Given the description of an element on the screen output the (x, y) to click on. 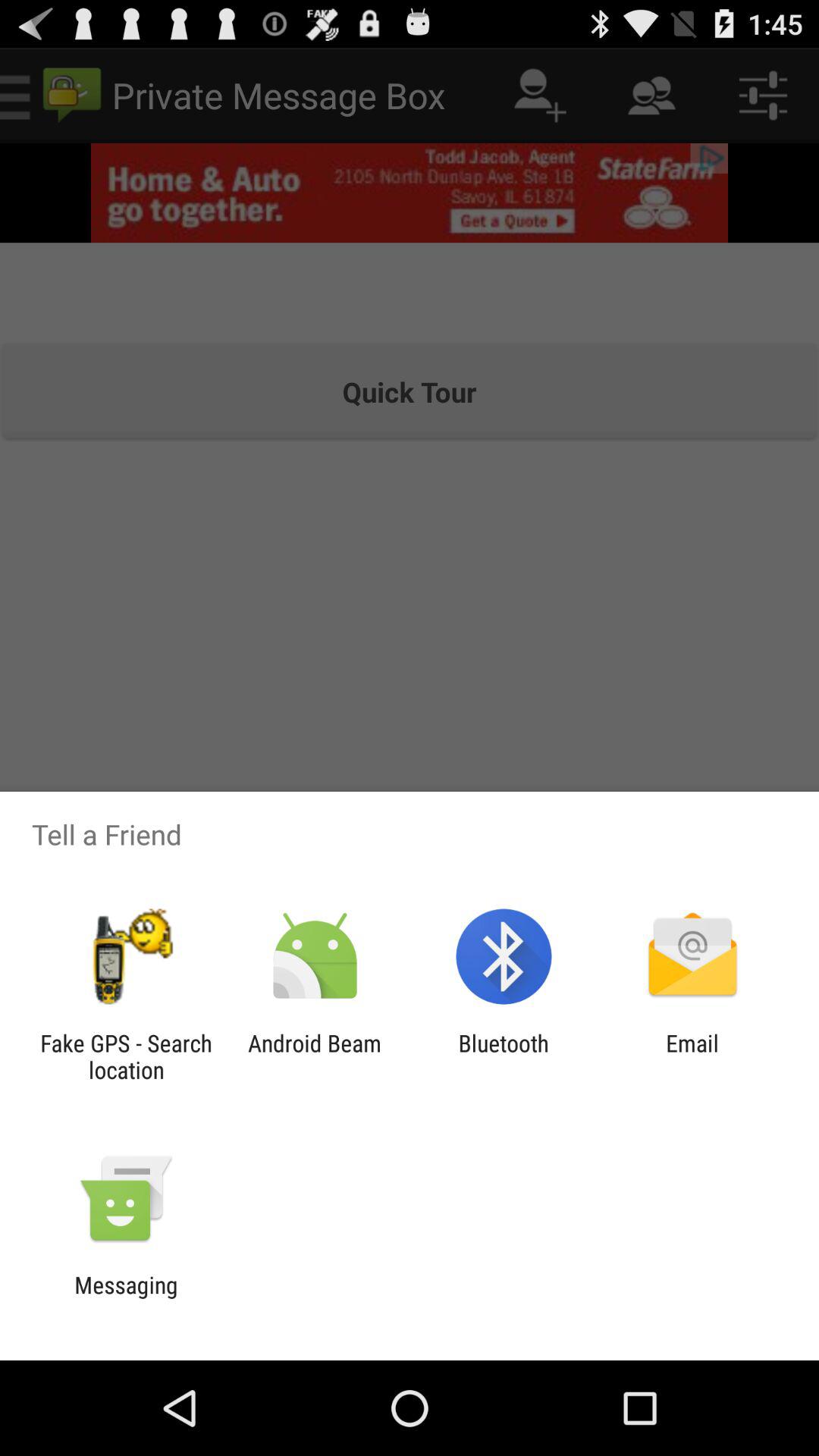
choose the messaging app (126, 1298)
